Given the description of an element on the screen output the (x, y) to click on. 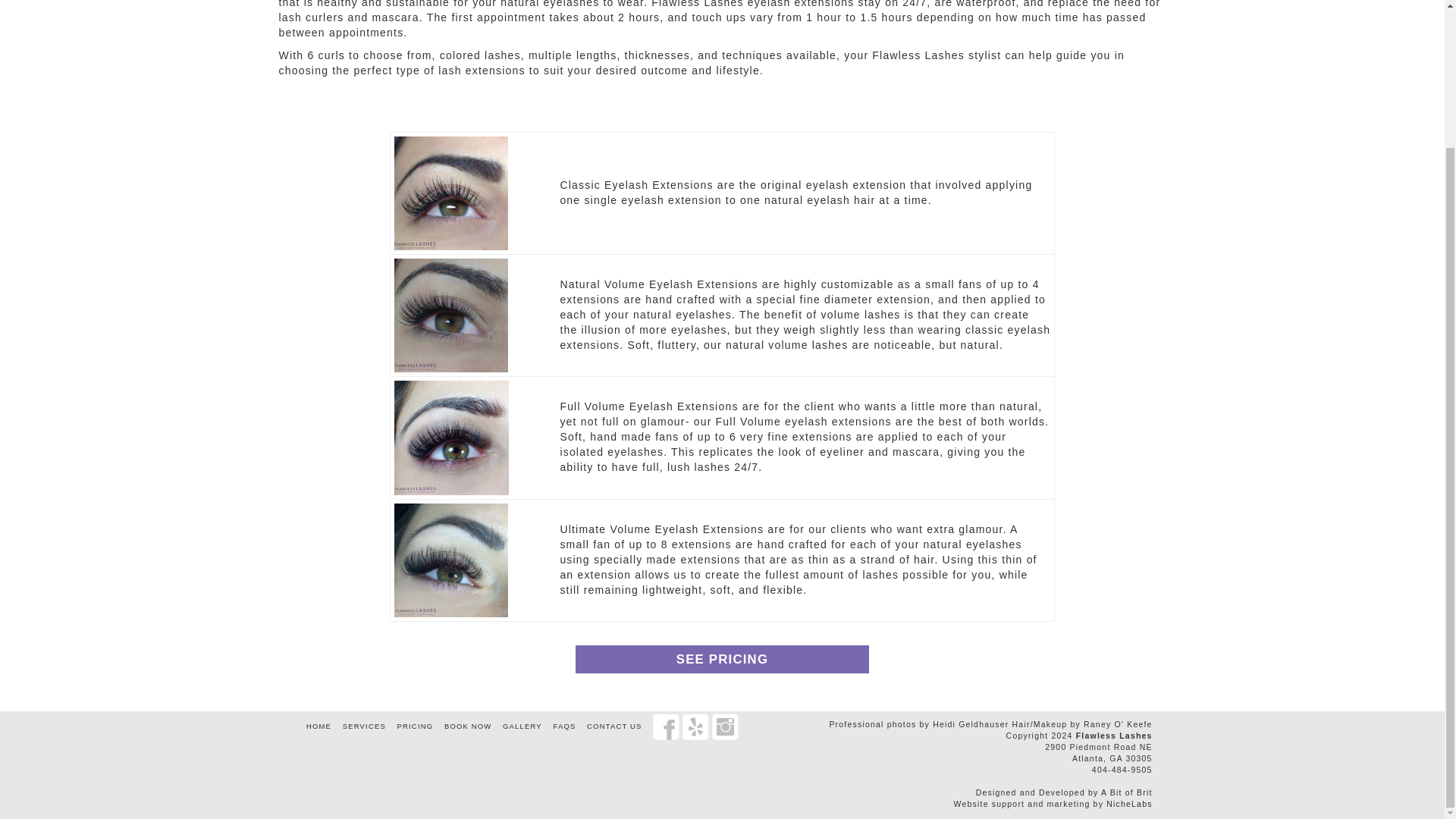
FAQS (564, 726)
CONTACT US (614, 726)
GALLERY (521, 726)
SERVICES (363, 726)
A Bit of Brit (1126, 791)
PRICING (415, 726)
HOME (318, 726)
SEE PRICING (721, 659)
NicheLabs (1128, 803)
BOOK NOW (468, 726)
